Given the description of an element on the screen output the (x, y) to click on. 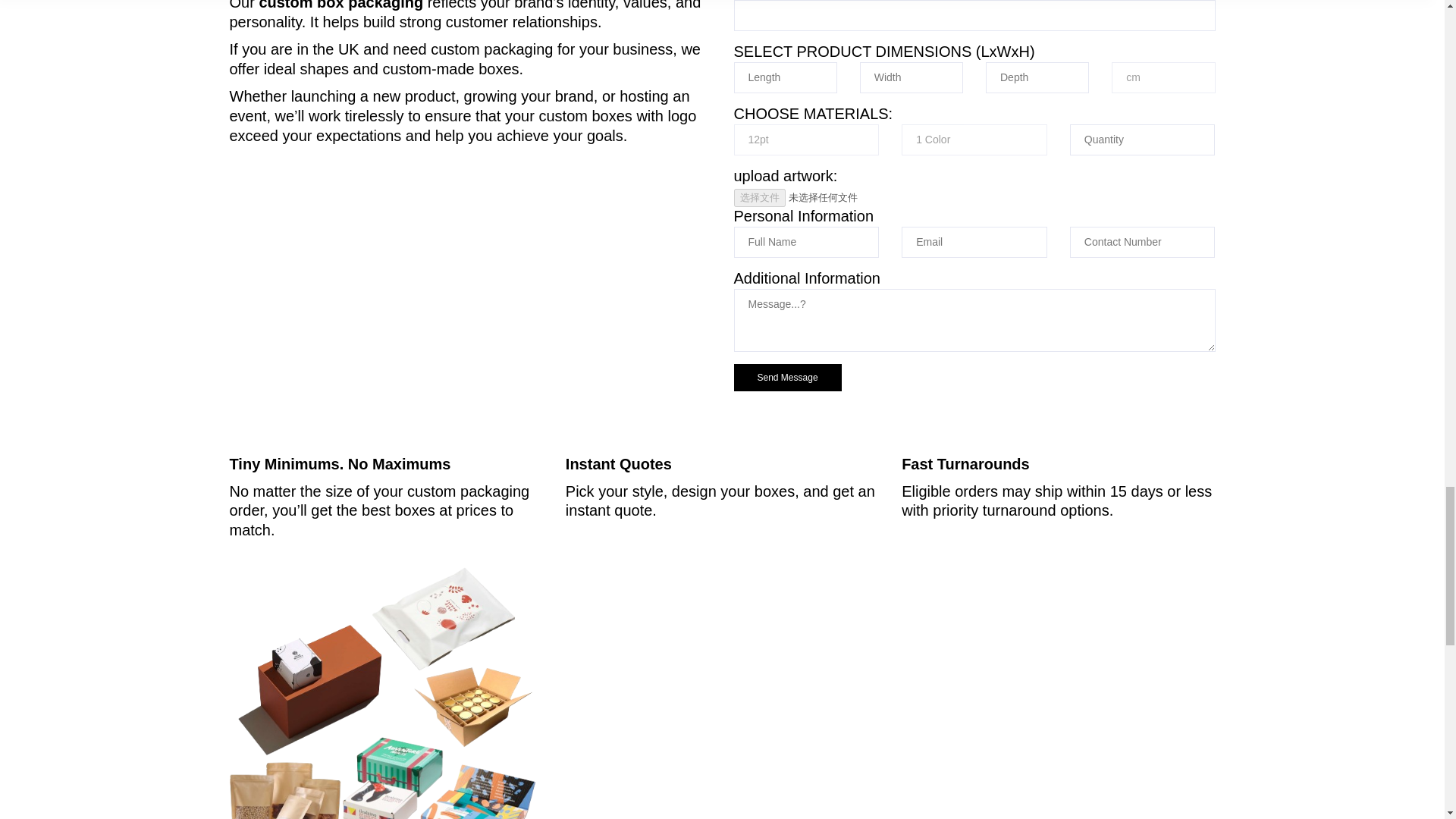
Key Elements of an Effective Custom Box Design (384, 692)
Send Message (787, 377)
